Given the description of an element on the screen output the (x, y) to click on. 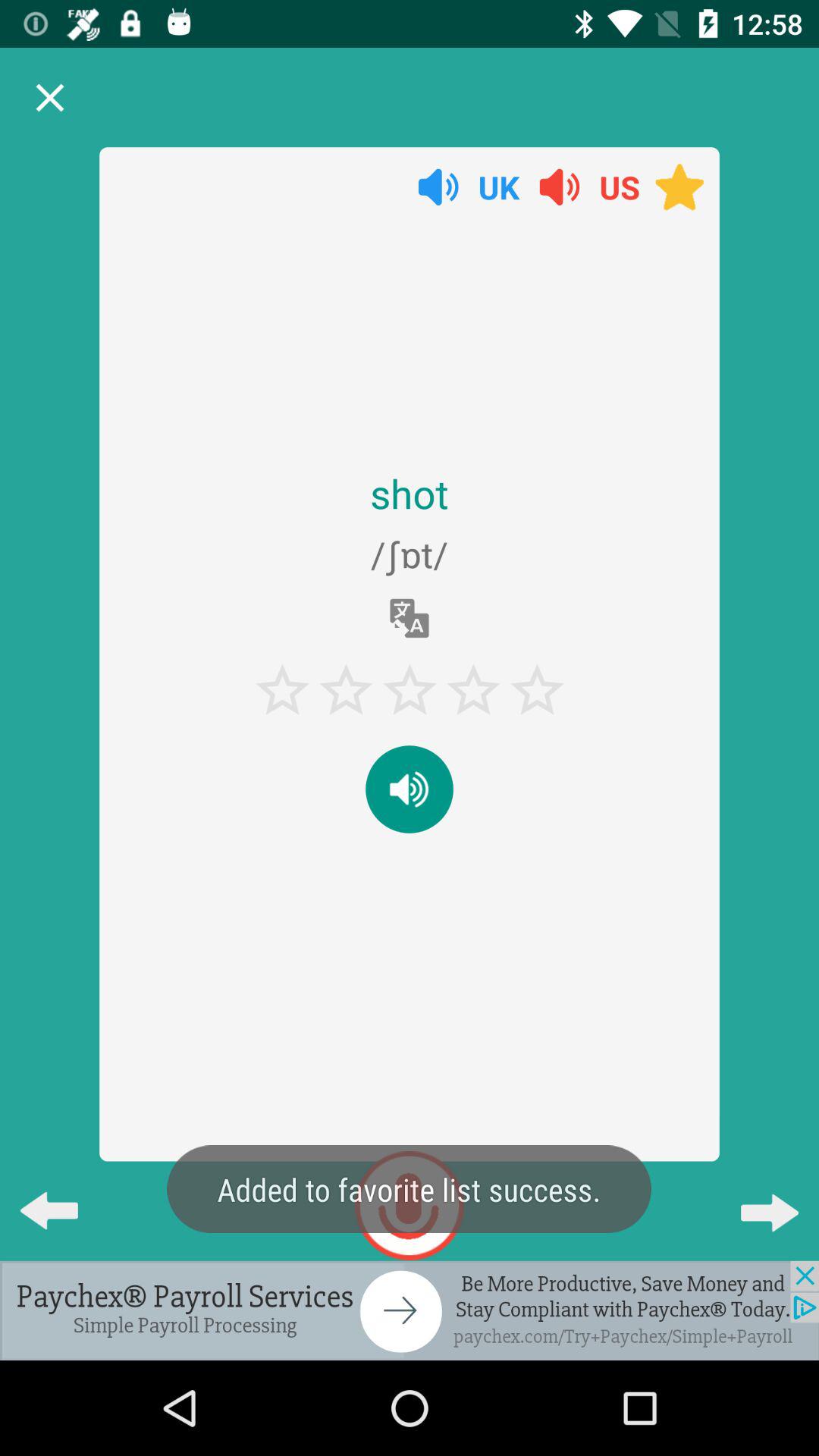
open advertisement (409, 1310)
